Given the description of an element on the screen output the (x, y) to click on. 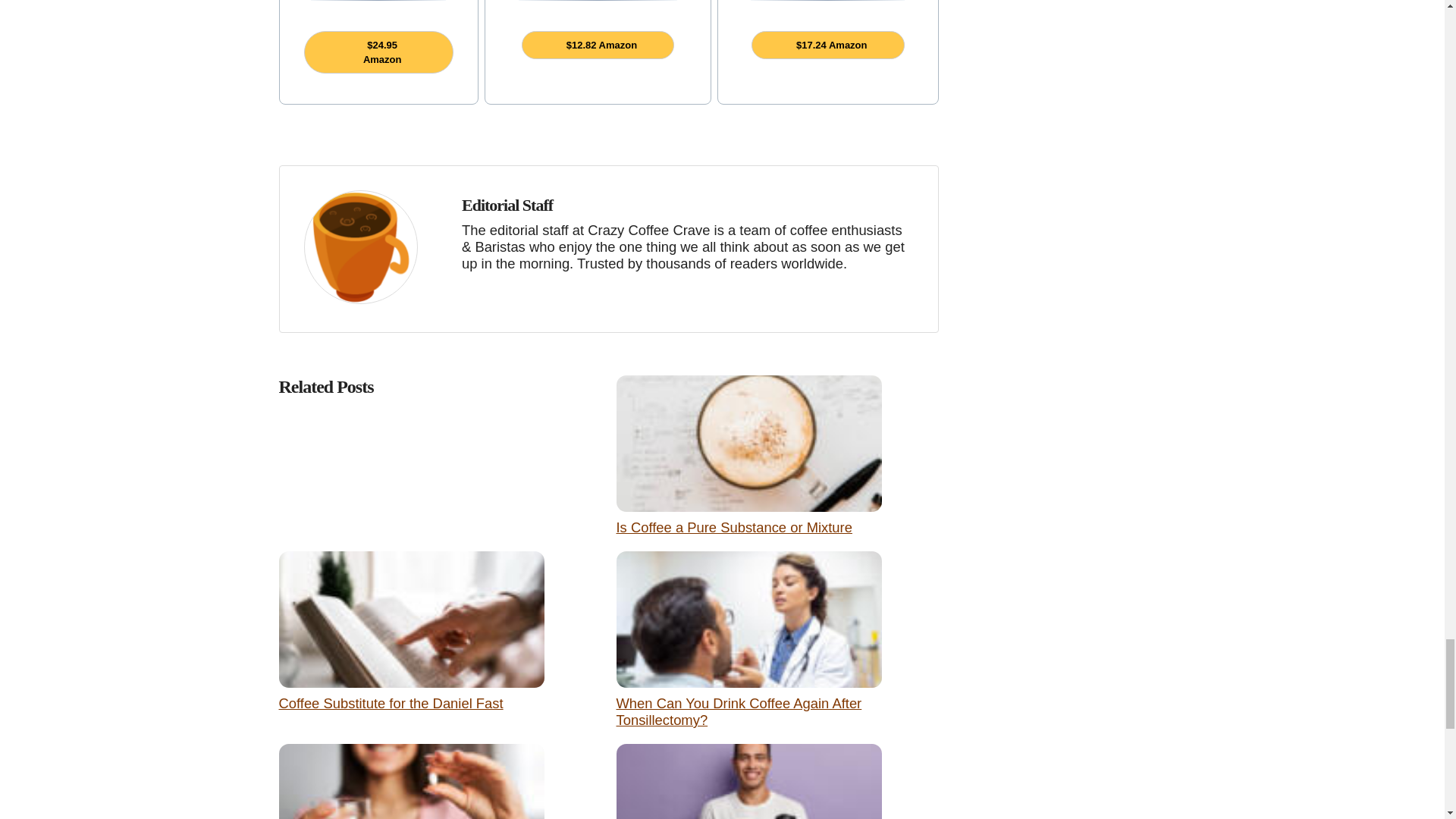
Permanent Link to Is Coffee a Pure Substance or Mixture (733, 527)
crazy (359, 246)
Permanent Link to Coffee Substitute for the Daniel Fast (391, 703)
